Given the description of an element on the screen output the (x, y) to click on. 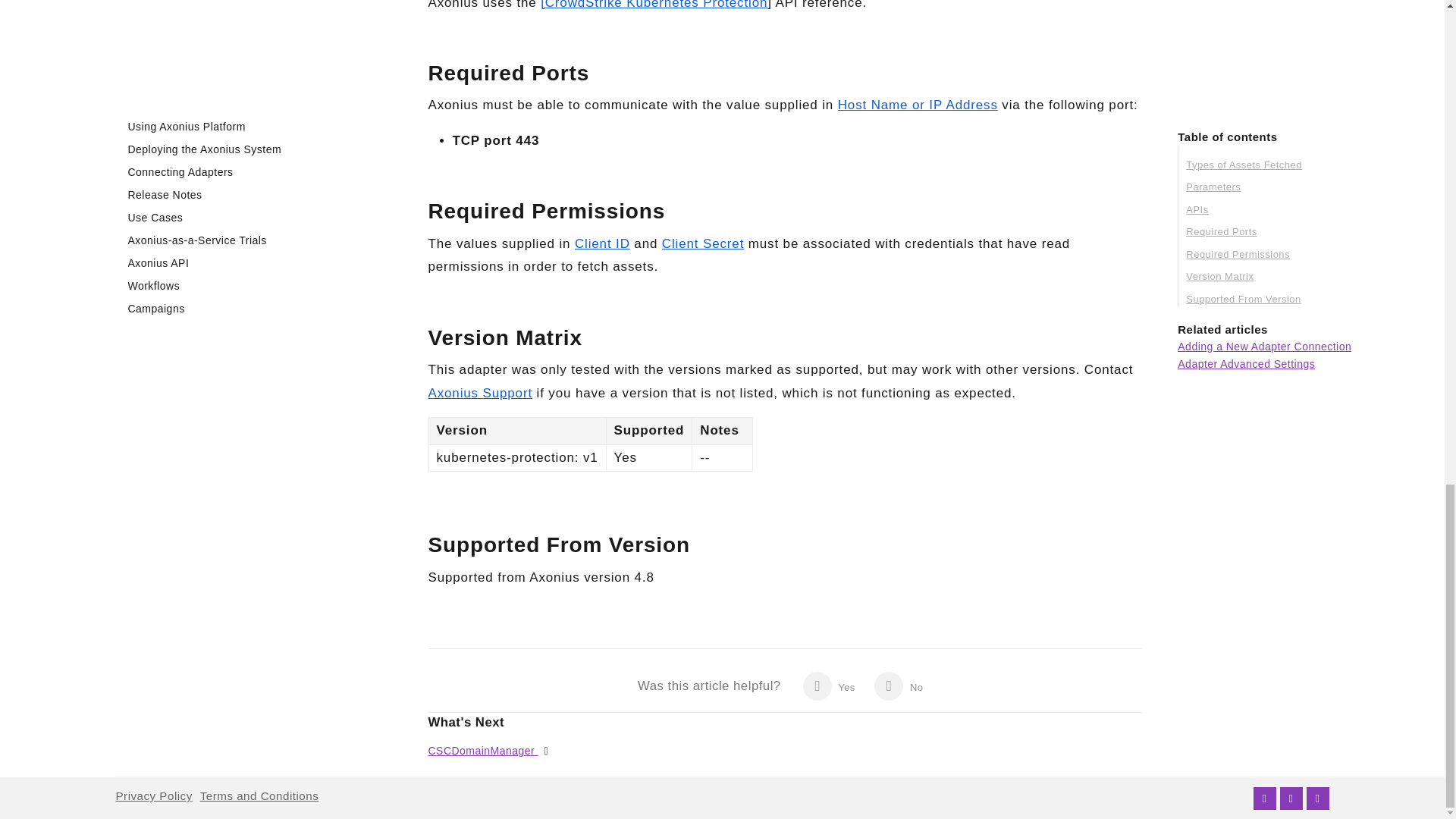
Axonius Support (480, 392)
No (898, 686)
Client ID (602, 243)
Host Name or IP Address (917, 104)
Yes (828, 686)
Client Secret (703, 243)
CSCDomainManager (482, 750)
